Given the description of an element on the screen output the (x, y) to click on. 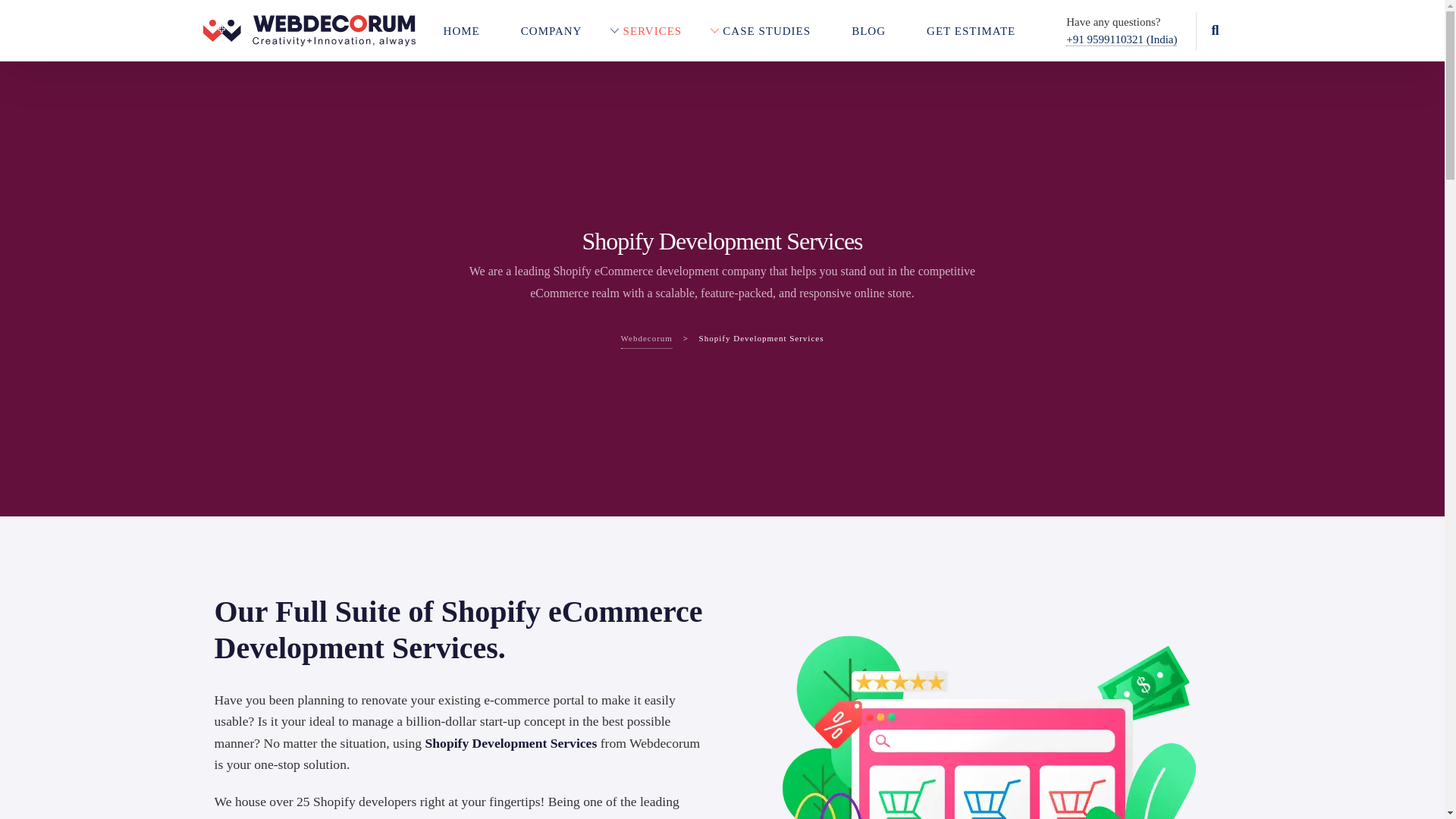
CASE STUDIES (778, 30)
HOME (472, 30)
Go to Webdecorum. (646, 338)
GET ESTIMATE (981, 30)
COMPANY (563, 30)
SERVICES (663, 30)
BLOG (880, 30)
